Given the description of an element on the screen output the (x, y) to click on. 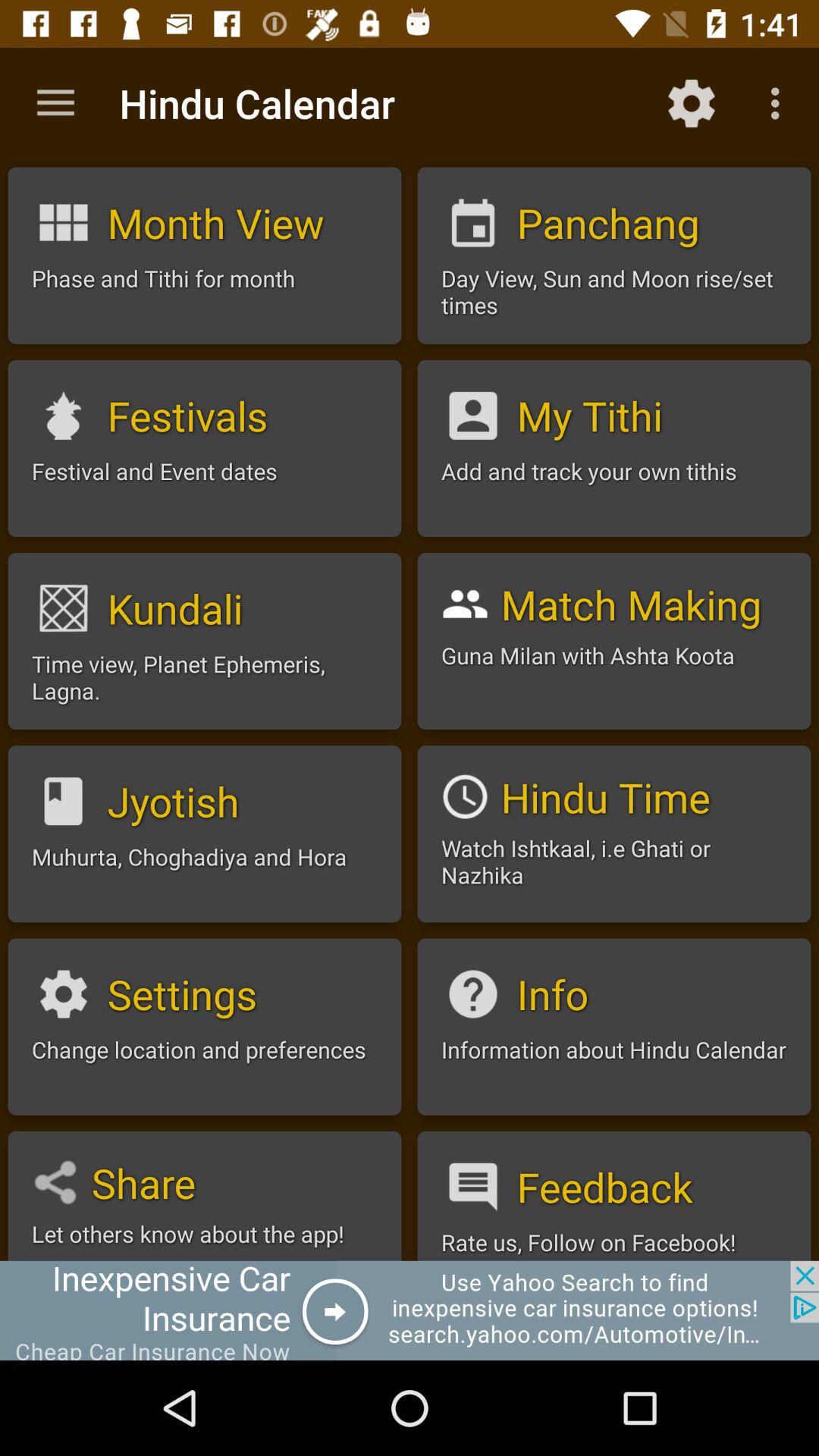
view advertisement (409, 1310)
